Given the description of an element on the screen output the (x, y) to click on. 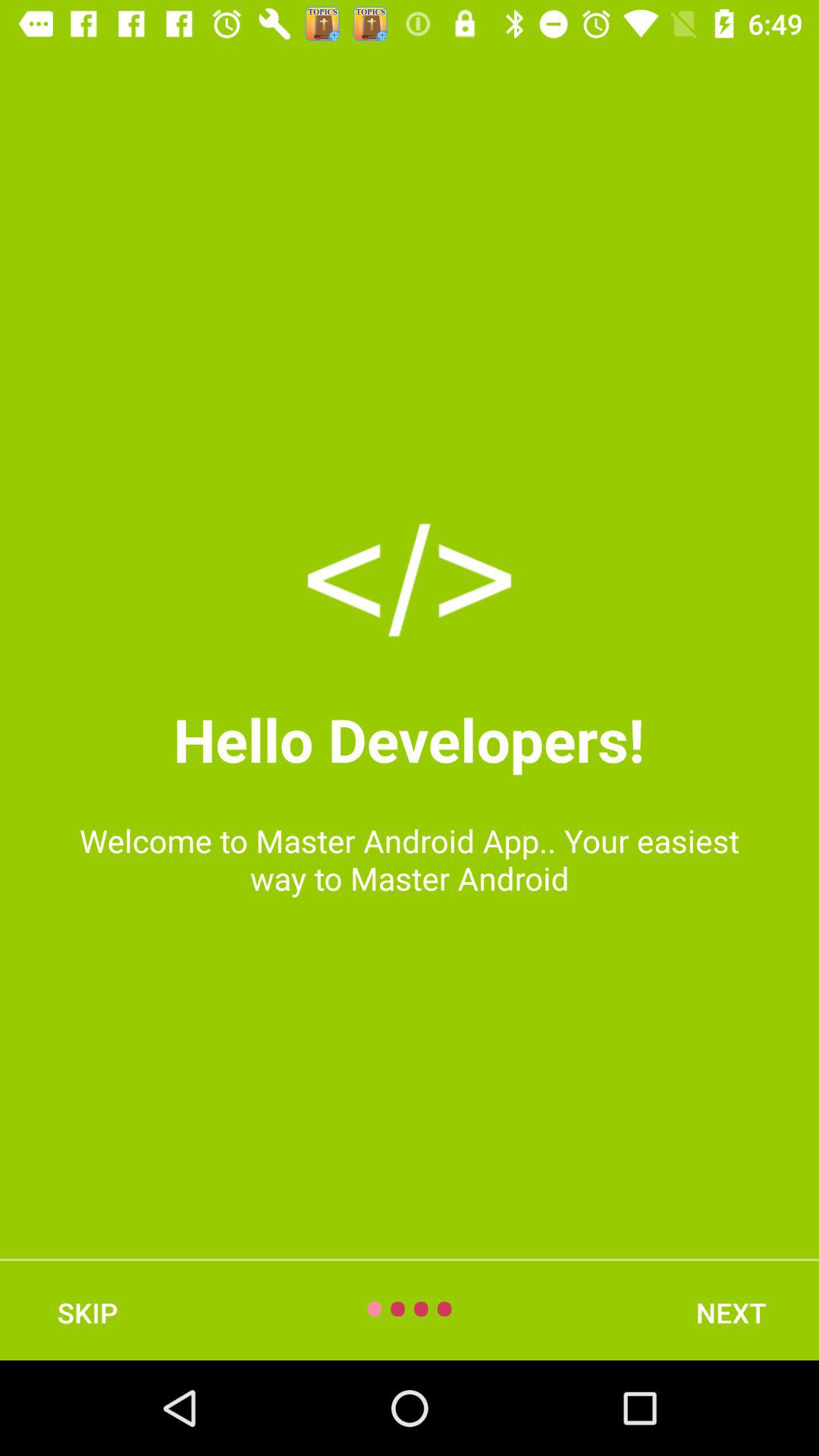
launch the next icon (731, 1312)
